Given the description of an element on the screen output the (x, y) to click on. 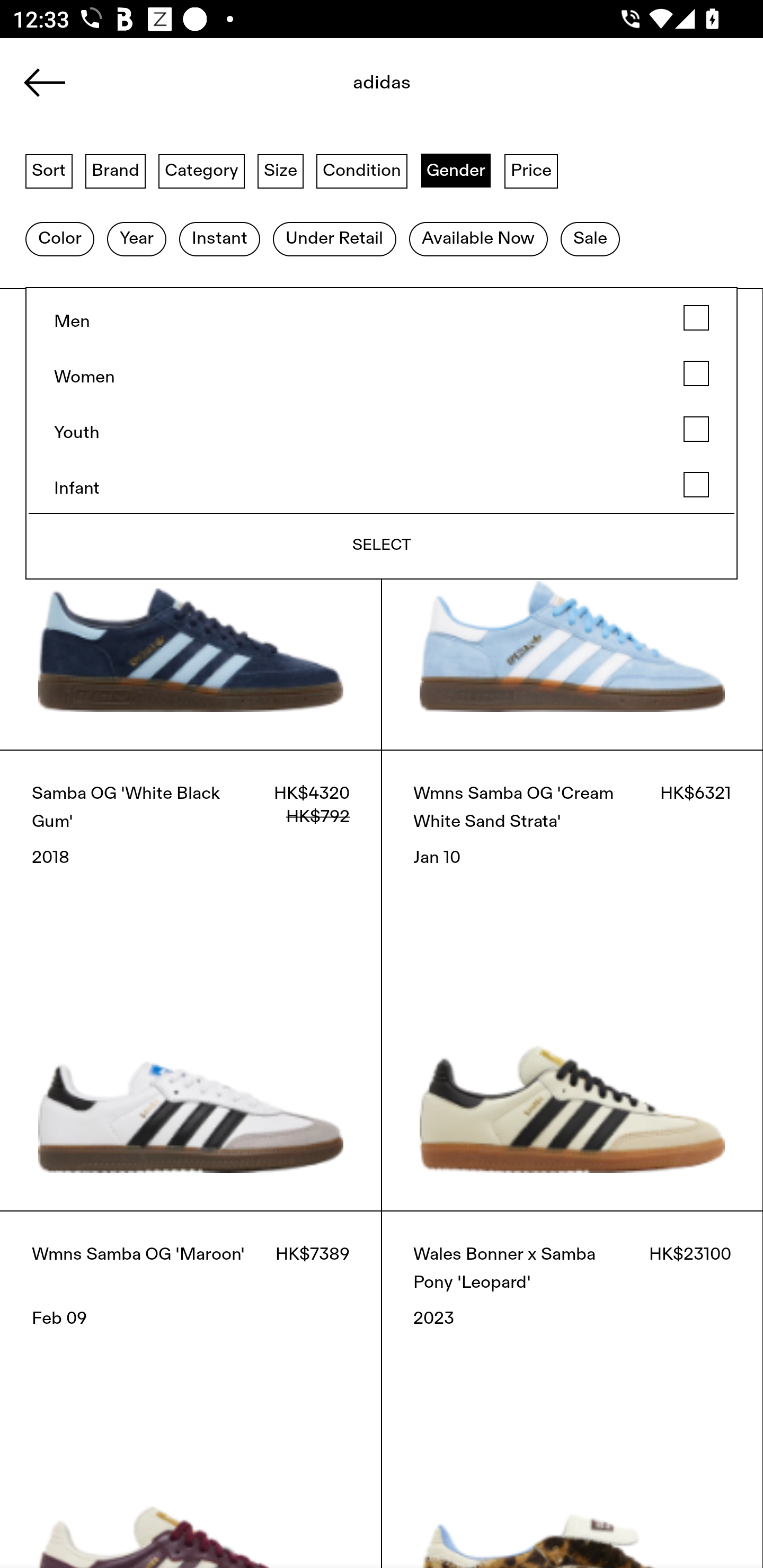
flats (381, 88)
Sort (48, 170)
Brand (115, 170)
Category (201, 170)
Size (280, 170)
Condition (361, 170)
Gender (455, 170)
Price (530, 170)
Color (59, 239)
Year (136, 239)
Instant (219, 239)
Under Retail (334, 239)
Available Now (477, 239)
Sale (589, 239)
Men (381, 318)
Women (381, 373)
Youth (381, 429)
Infant (381, 484)
SELECT (381, 545)
Samba OG 'White Black Gum' HK$4320 HK$792 2018 (190, 979)
Wmns Samba OG 'Maroon' HK$7389 Feb 09 (190, 1389)
Wales Bonner x Samba Pony 'Leopard' HK$23100 2023 (572, 1389)
